Given the description of an element on the screen output the (x, y) to click on. 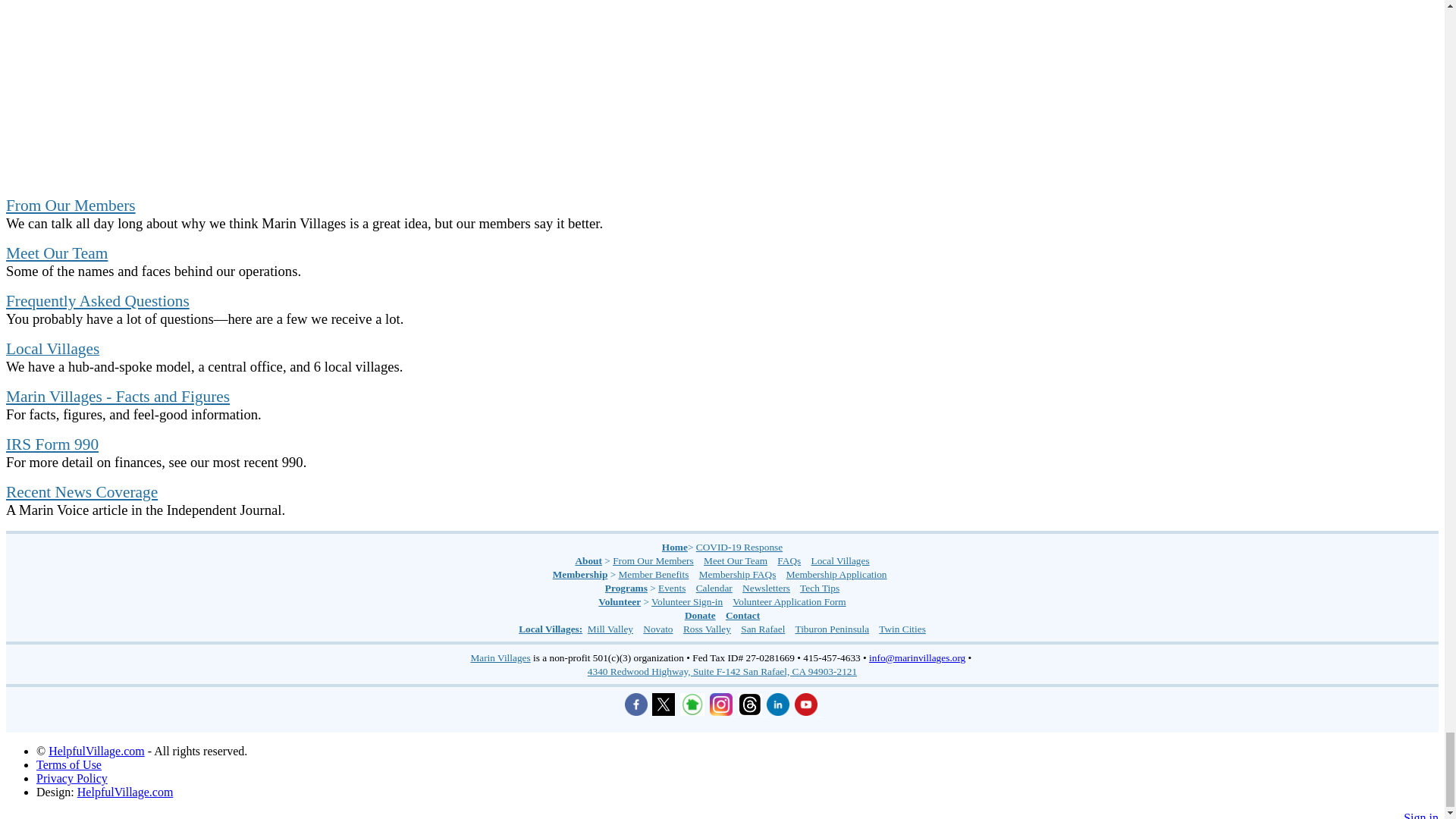
Marin Villages Local Villages Organization (839, 560)
Marin Villages Meet Our Team (735, 560)
Marin Villages Programs and Events (626, 587)
Frequently Asked Questions (97, 300)
Marin Villages Membership (580, 573)
Marin Villages COVID-19 Response (739, 546)
About Marin Villages (588, 560)
Marin Villages Meet Our Team (56, 253)
Marin Villages Membership FAQs (737, 573)
Marin Villages Member Benefits (653, 573)
Marin Villages Frequently Asked Questions (97, 300)
From Our Members (70, 205)
Marin Villages FAQs (788, 560)
Marin Villages Events List (671, 587)
Marin Villages Home Page (674, 546)
